Given the description of an element on the screen output the (x, y) to click on. 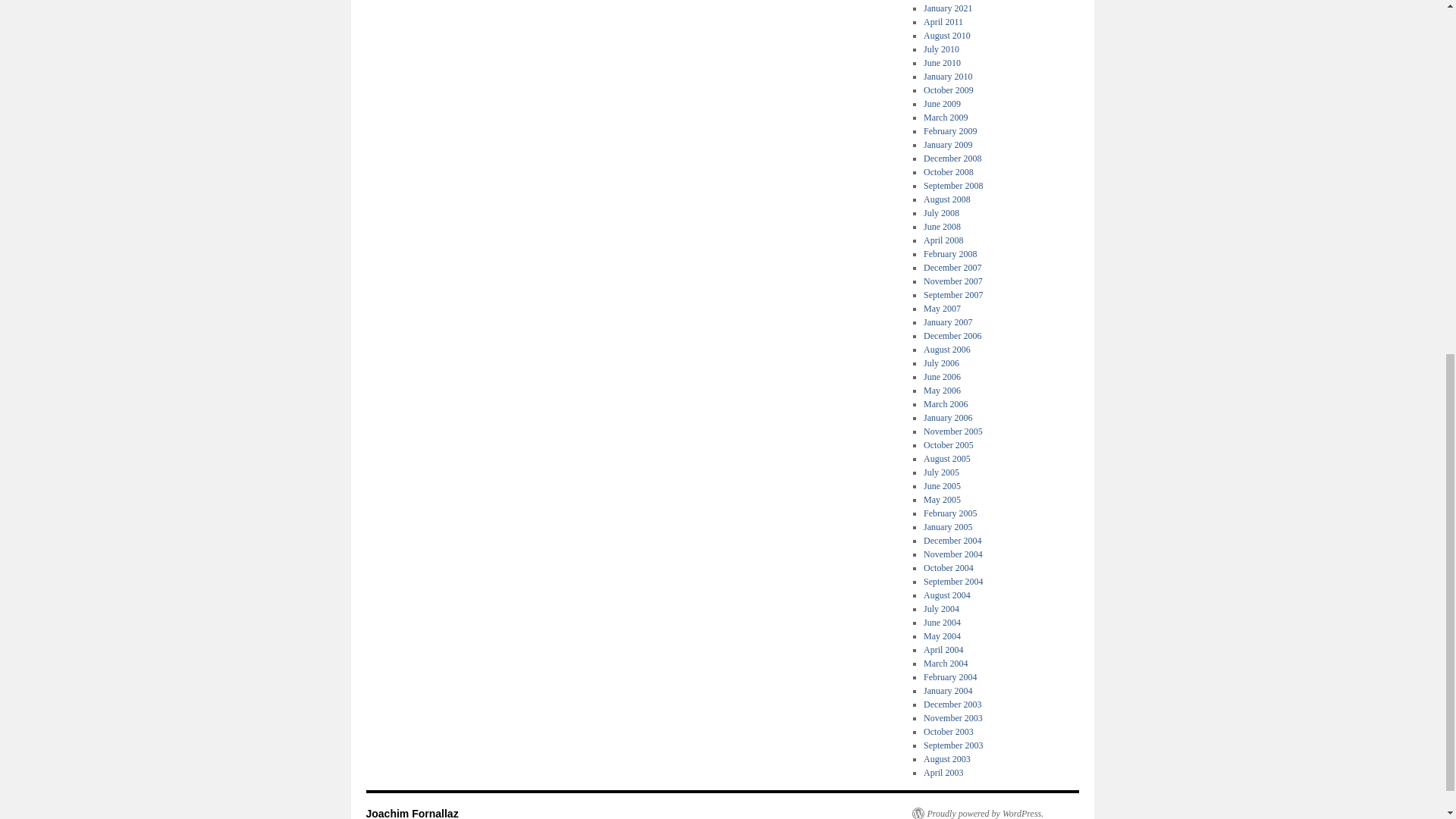
April 2011 (942, 21)
August 2008 (947, 199)
October 2009 (948, 90)
June 2010 (941, 62)
July 2008 (941, 213)
January 2010 (947, 76)
September 2008 (952, 185)
March 2009 (945, 117)
December 2008 (952, 158)
January 2021 (947, 8)
February 2009 (949, 131)
July 2010 (941, 49)
June 2009 (941, 103)
January 2009 (947, 144)
October 2008 (948, 172)
